Given the description of an element on the screen output the (x, y) to click on. 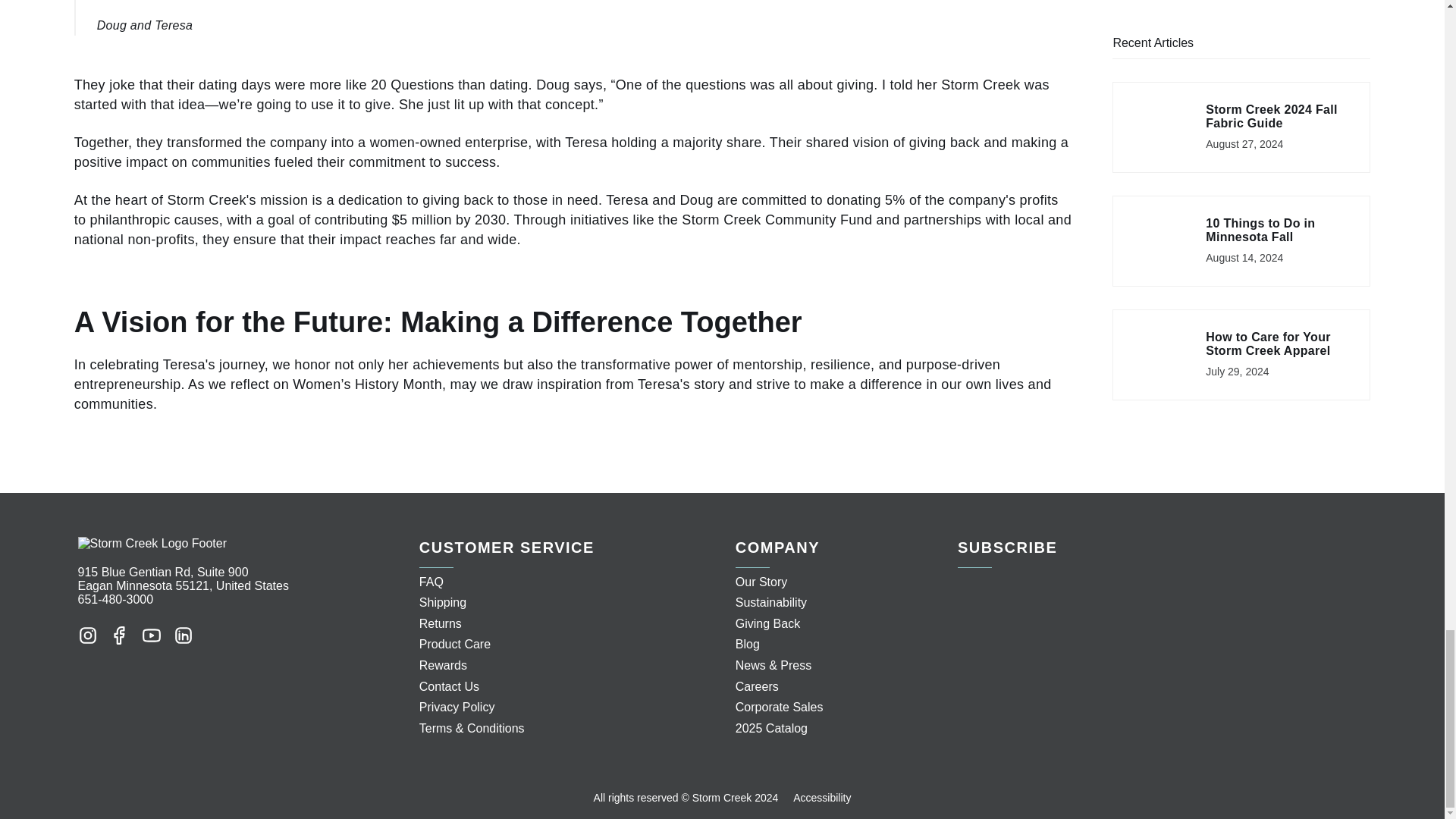
Storm Creek on Instagram (87, 634)
Storm Creek on Facebook (119, 634)
Storm Creek on Linkedin (182, 634)
Storm Creek on YouTube (150, 634)
